Given the description of an element on the screen output the (x, y) to click on. 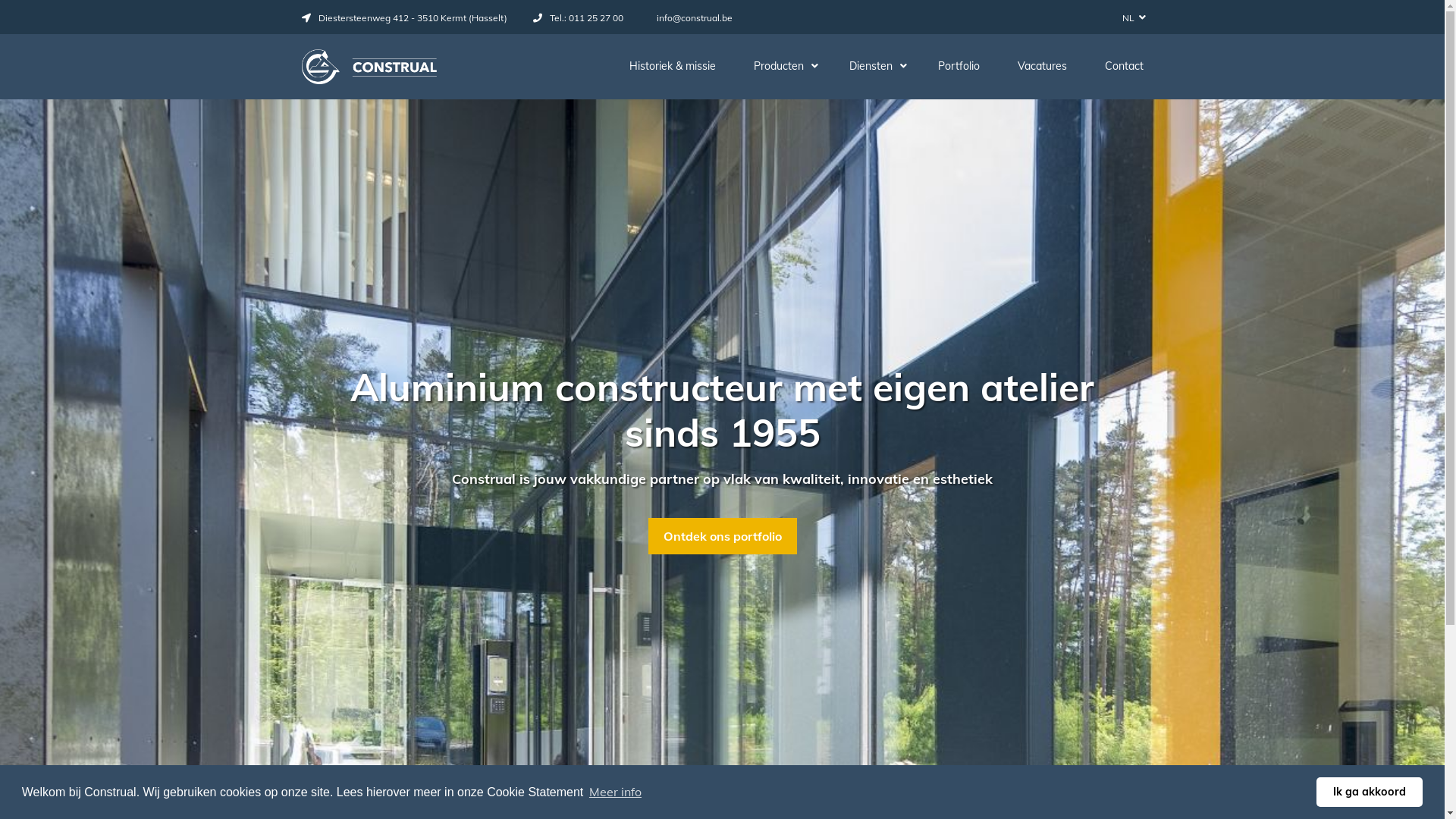
Diensten Element type: text (874, 66)
Contact Element type: text (1123, 66)
Ontdek ons portfolio Element type: text (721, 535)
Historiek & missie Element type: text (672, 66)
NL Element type: text (1130, 17)
Producten Element type: text (782, 66)
Tel.: 011 25 27 00 Element type: text (578, 18)
Vacatures Element type: text (1041, 66)
Portfolio Element type: text (958, 66)
Meer info Element type: text (614, 791)
Ik ga akkoord Element type: text (1369, 791)
info@construal.be Element type: text (690, 18)
